Given the description of an element on the screen output the (x, y) to click on. 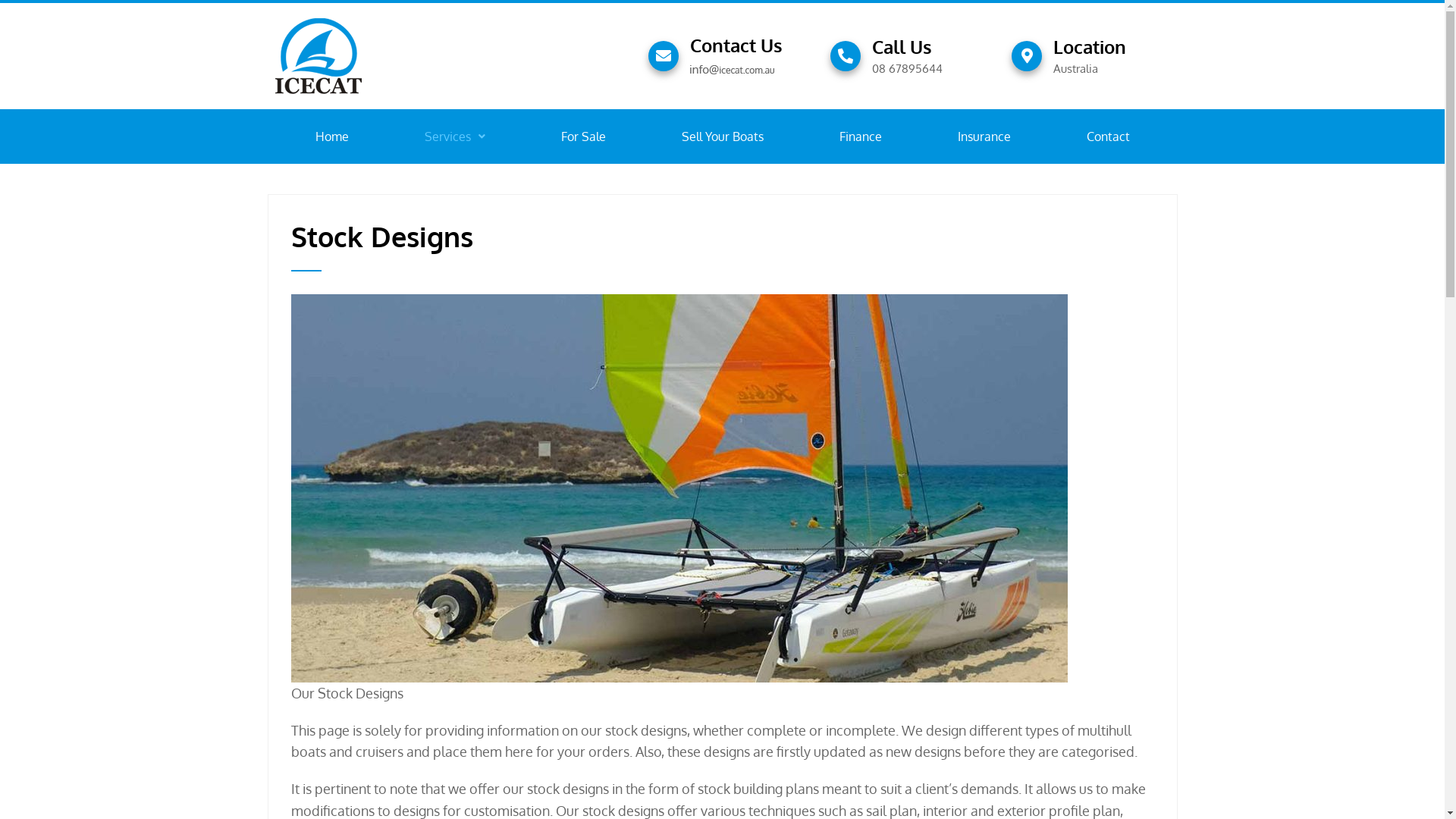
For Sale Element type: text (583, 136)
Contact Element type: text (1107, 136)
Finance Element type: text (859, 136)
Sell Your Boats Element type: text (721, 136)
Home Element type: text (331, 136)
Insurance Element type: text (983, 136)
Services Element type: text (454, 136)
